Given the description of an element on the screen output the (x, y) to click on. 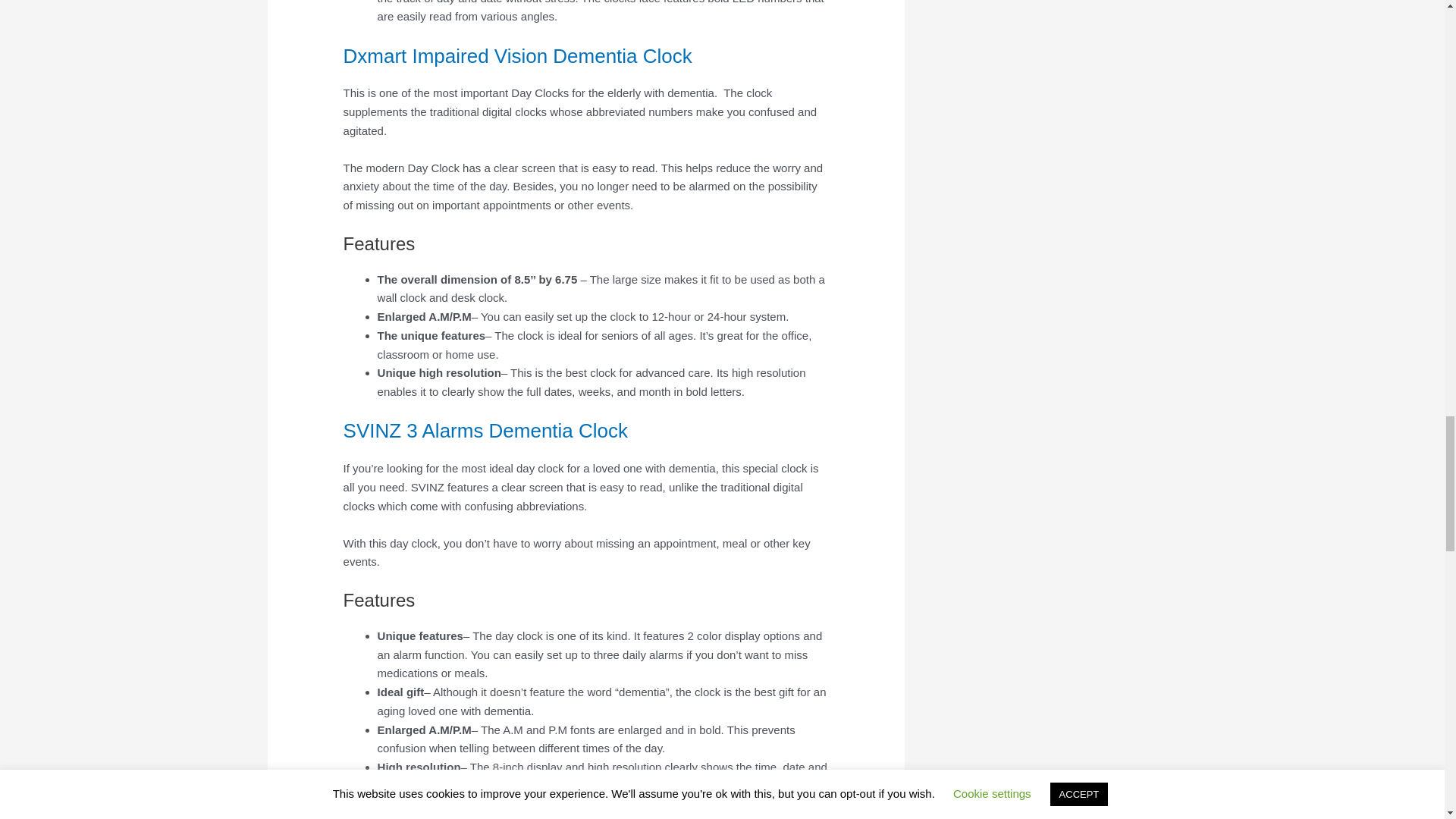
SVINZ 3 Alarms Dementia Clock (485, 430)
Dxmart Impaired Vision Dementia Clock (518, 56)
